Given the description of an element on the screen output the (x, y) to click on. 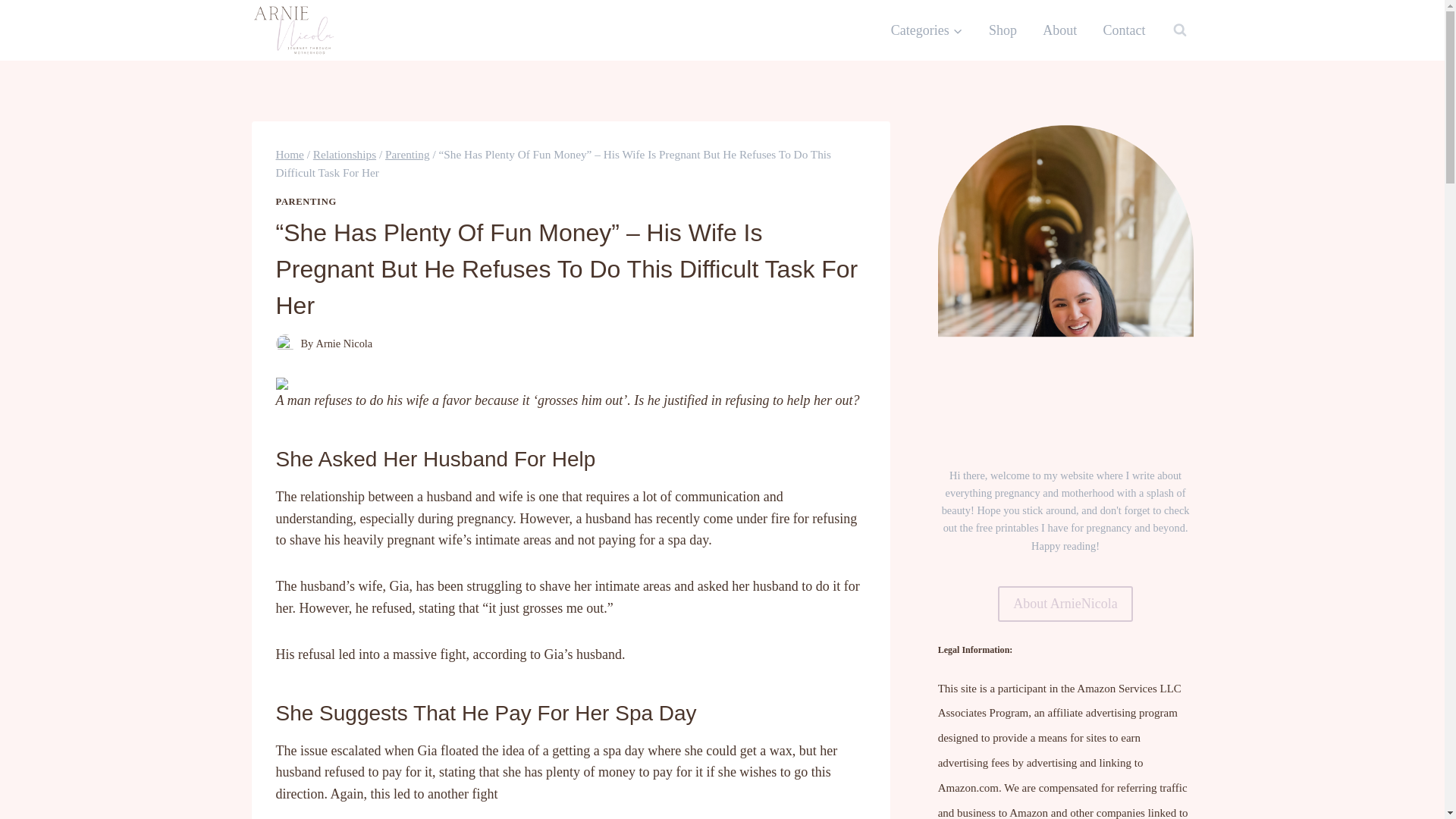
Categories (926, 30)
Parenting (407, 154)
Contact (1123, 30)
About (1059, 30)
Relationships (344, 154)
Shop (1002, 30)
Home (290, 154)
PARENTING (306, 201)
